Given the description of an element on the screen output the (x, y) to click on. 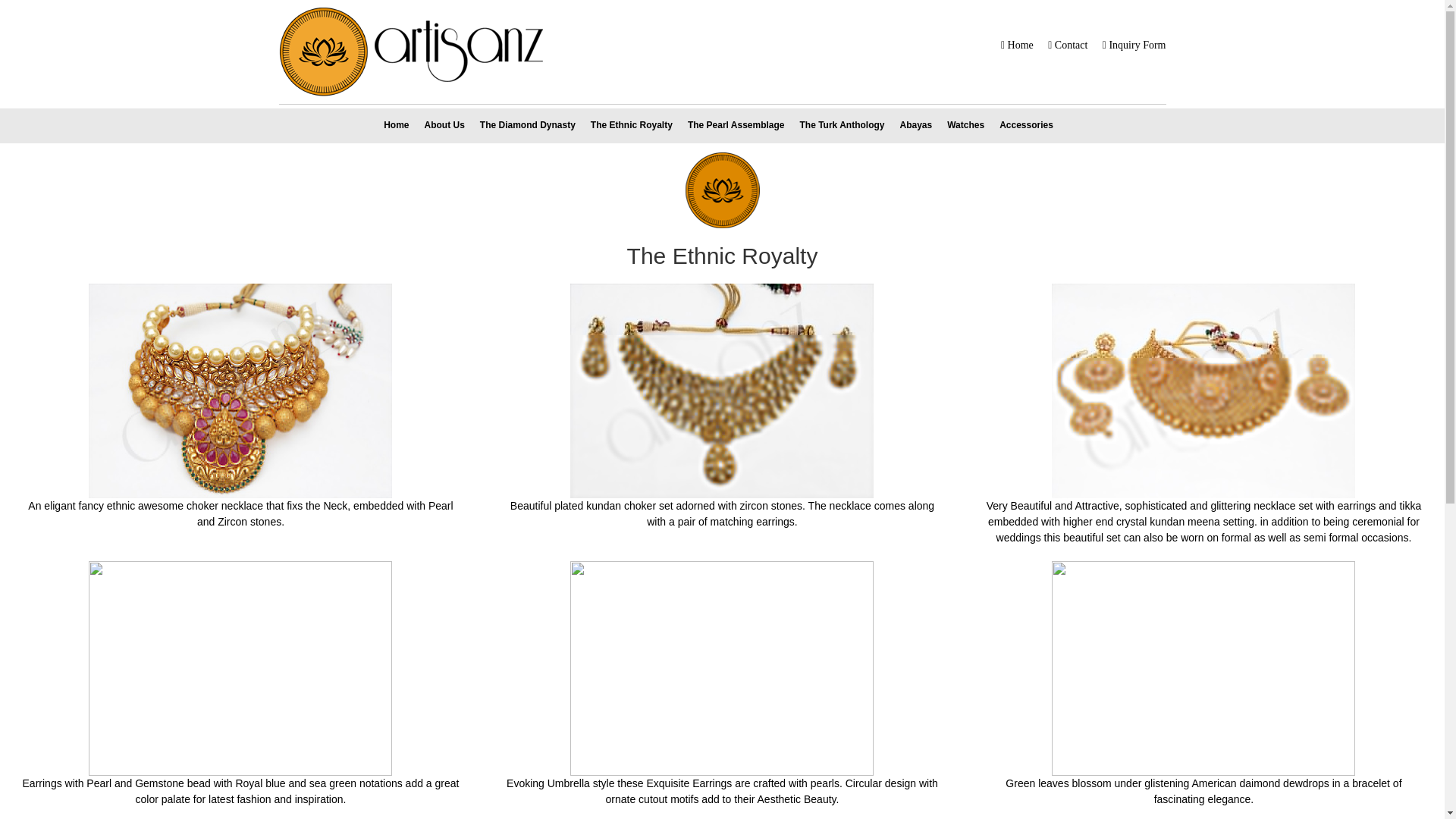
About Us (443, 123)
Home (1018, 44)
The Pearl Assemblage (735, 123)
Inquiry Form (1136, 44)
Accessories (1026, 123)
Watches (965, 123)
Abayas (916, 123)
Home (395, 123)
The Turk Anthology (842, 123)
Contact (1069, 44)
The Ethnic Royalty (631, 123)
The Diamond Dynasty (527, 123)
